Given the description of an element on the screen output the (x, y) to click on. 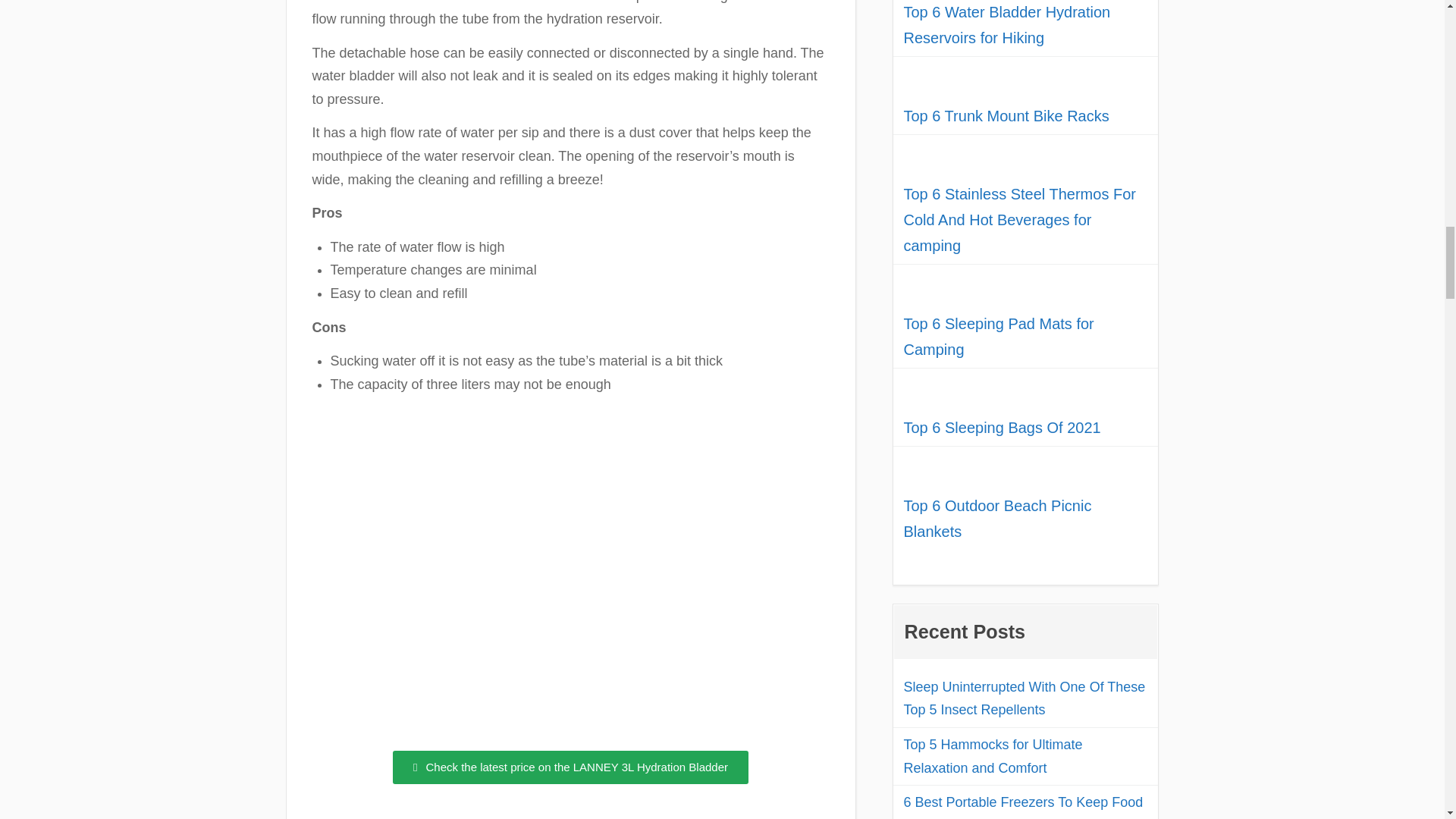
Check the latest price on the LANNEY 3L Hydration Bladder (570, 767)
